Given the description of an element on the screen output the (x, y) to click on. 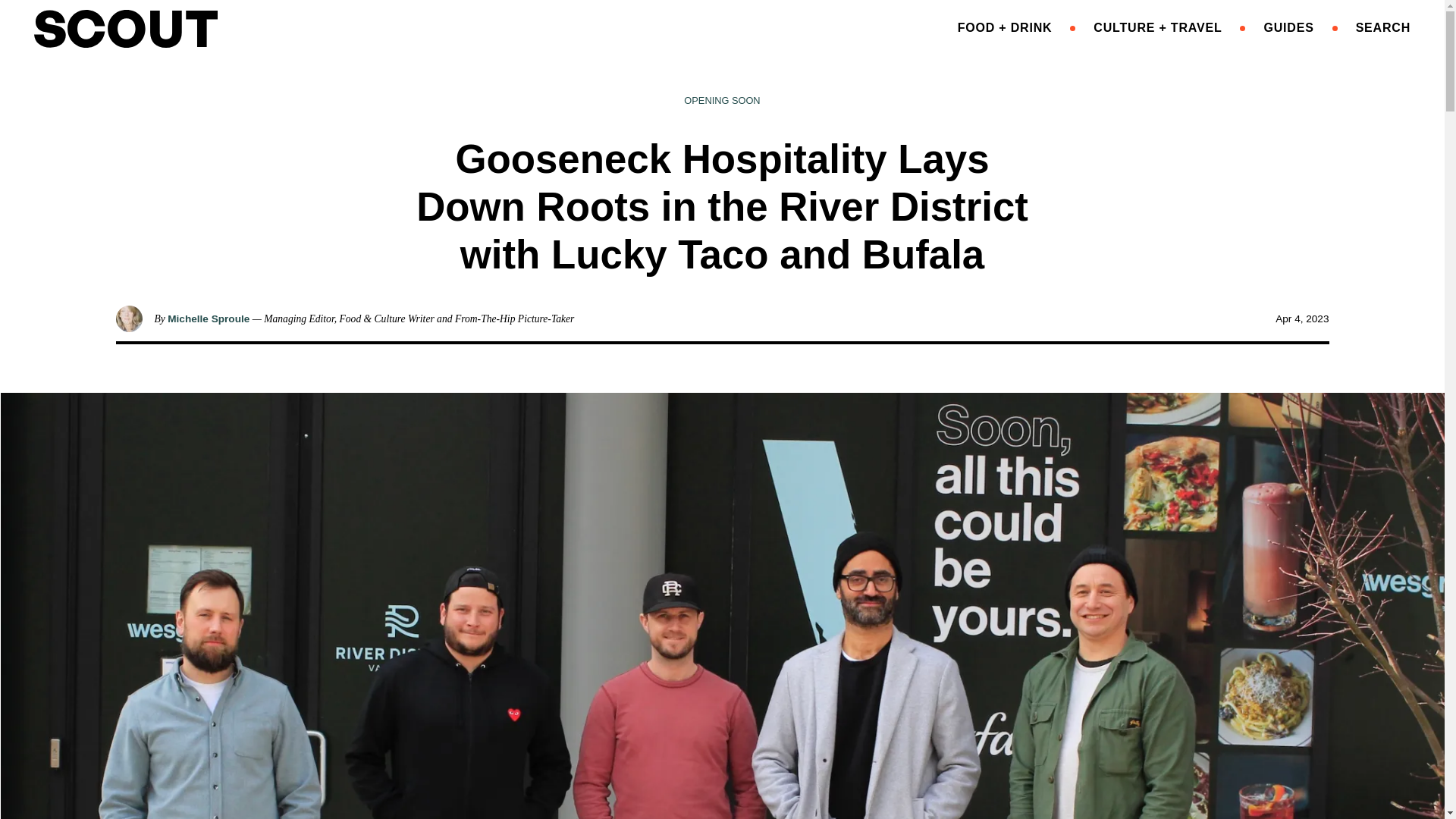
SEARCH (1382, 27)
2023-04-04T12:33:42-07:00 (1301, 318)
OPENING SOON (722, 100)
Michelle Sproule (207, 318)
GUIDES (1288, 27)
